Given the description of an element on the screen output the (x, y) to click on. 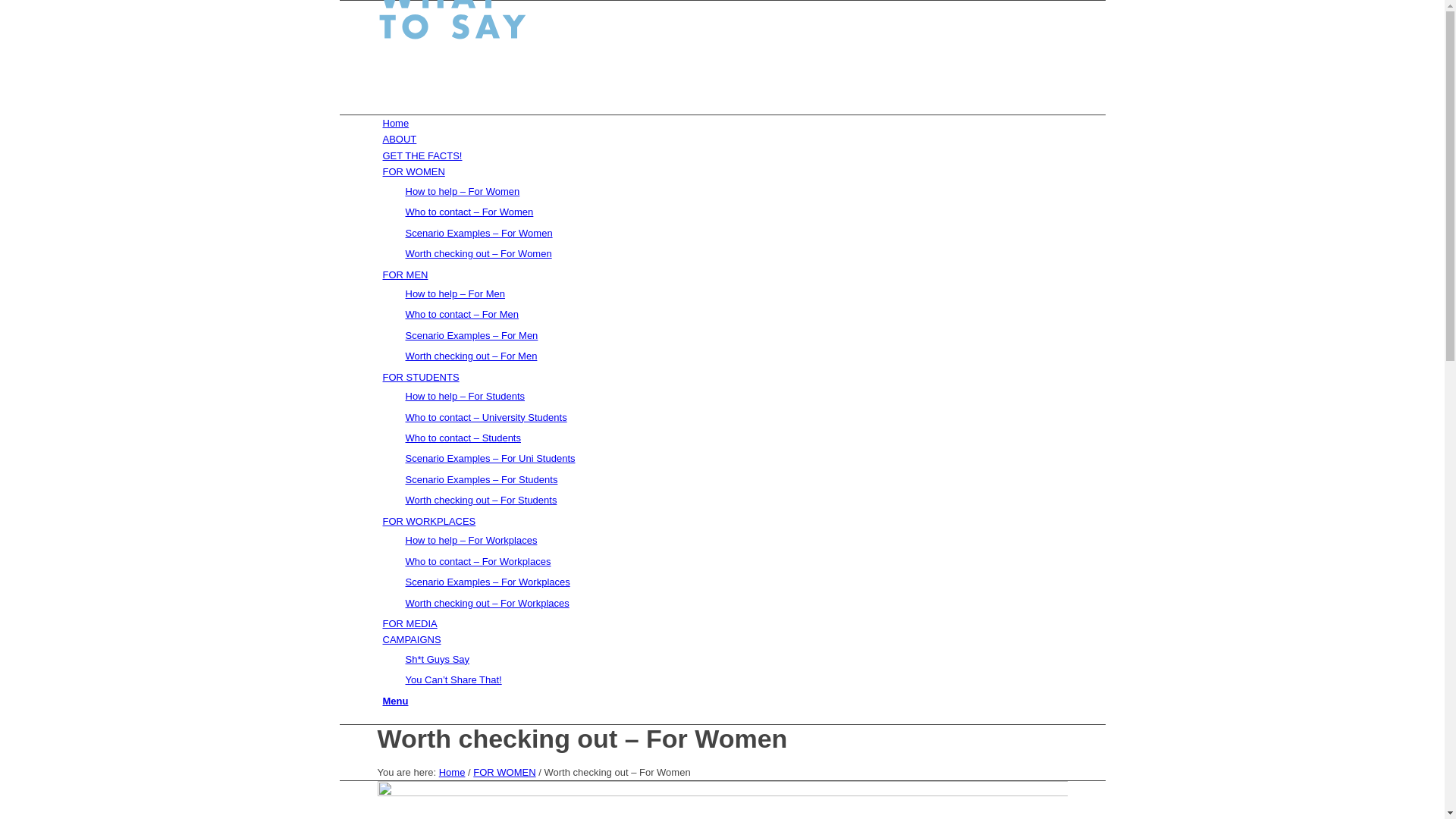
ABOUT Element type: text (399, 138)
FOR WOMEN Element type: text (504, 772)
FOR MEN Element type: text (404, 273)
FOR WOMEN Element type: text (413, 171)
CAMPAIGNS Element type: text (411, 639)
Home Element type: text (395, 122)
FOR MEDIA Element type: text (409, 623)
FOR WORKPLACES Element type: text (428, 521)
Menu Element type: text (394, 700)
Sh*t Guys Say Element type: text (436, 659)
GET THE FACTS! Element type: text (421, 155)
FOR STUDENTS Element type: text (420, 376)
Home Element type: text (452, 772)
